Given the description of an element on the screen output the (x, y) to click on. 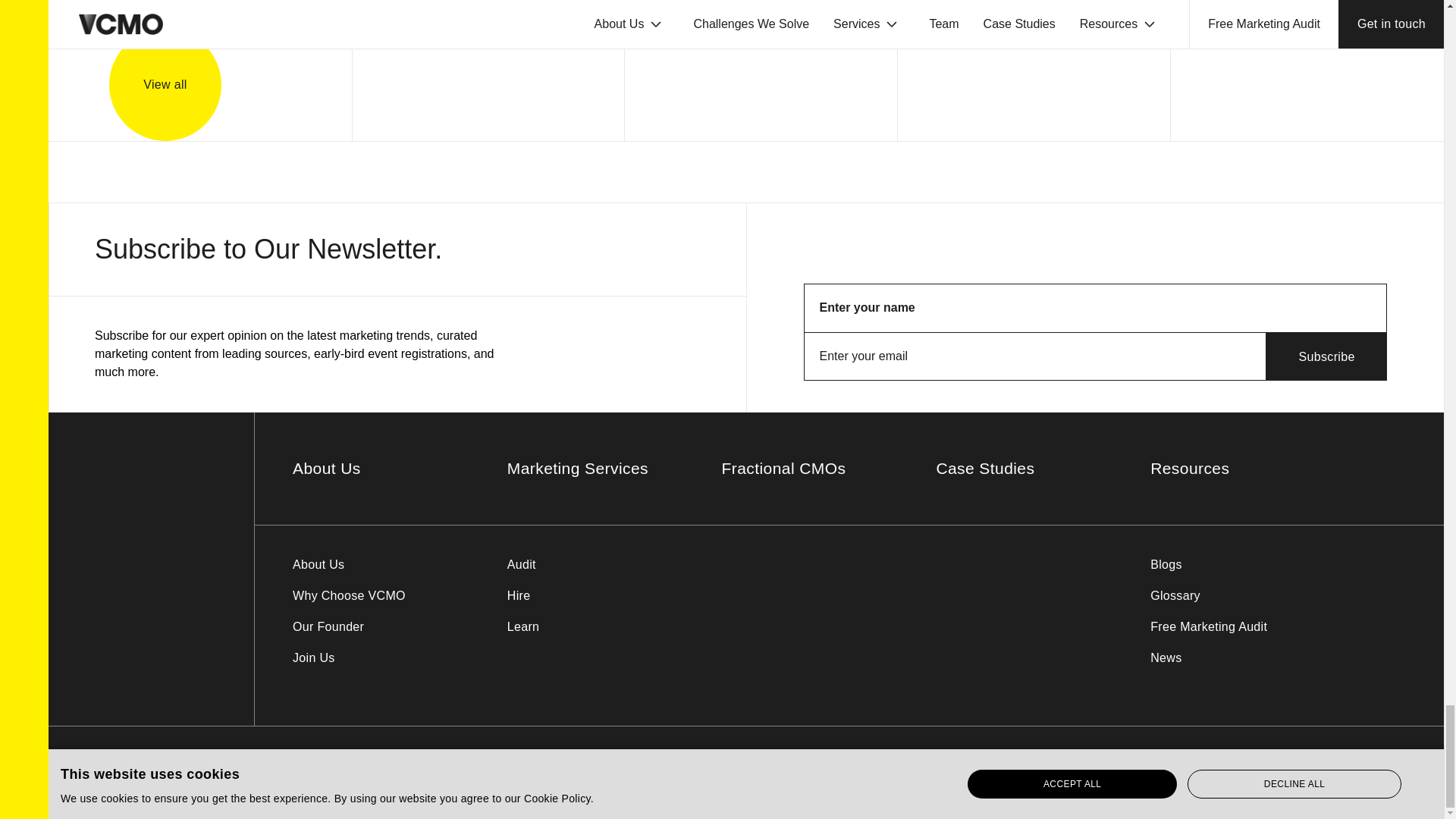
Subscribe (1326, 356)
